Given the description of an element on the screen output the (x, y) to click on. 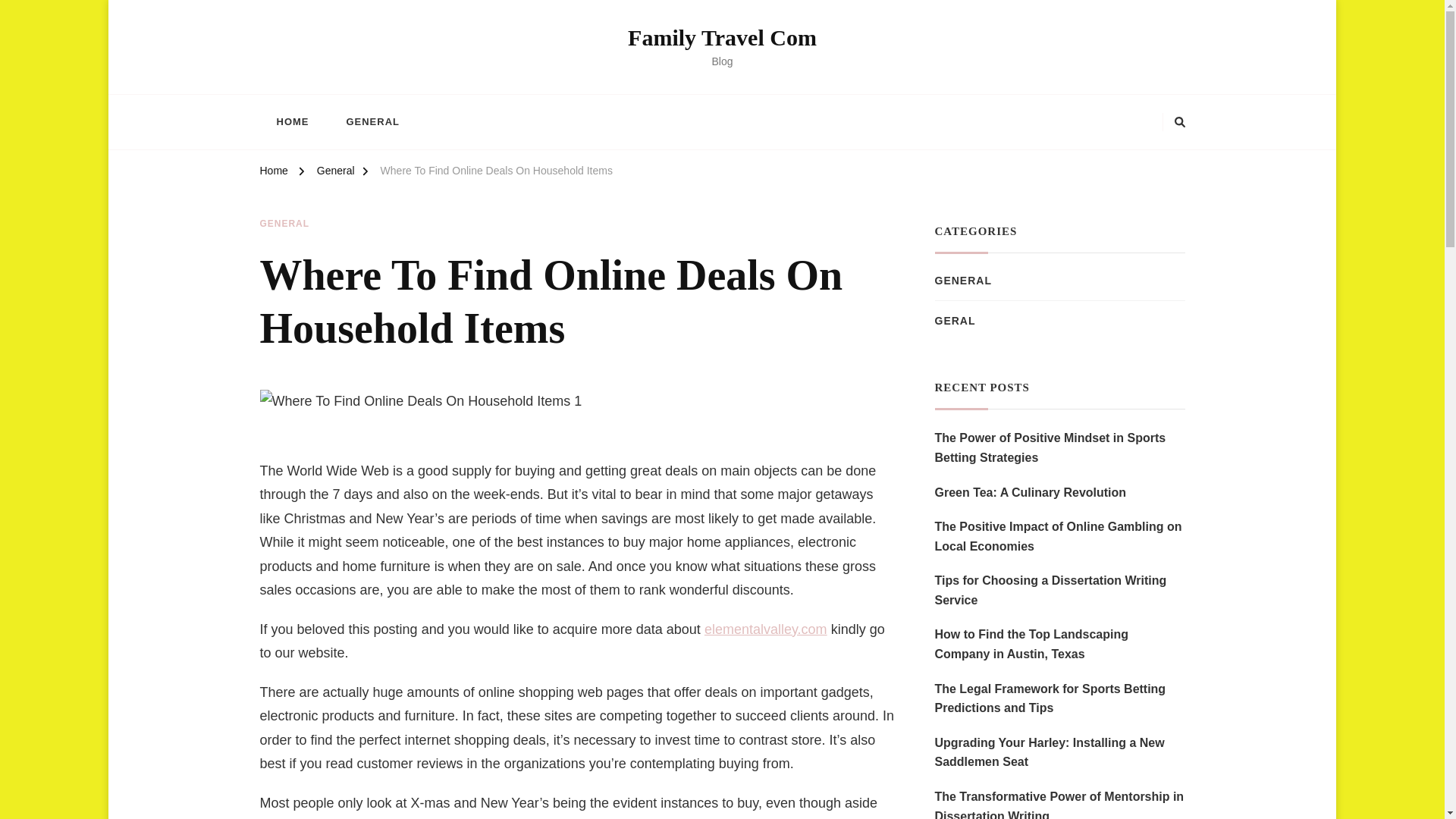
GENERAL (371, 121)
The Power of Positive Mindset in Sports Betting Strategies (1059, 447)
GENERAL (962, 280)
GENERAL (283, 223)
HOME (291, 121)
GERAL (954, 320)
Family Travel Com (721, 37)
General (336, 172)
Where To Find Online Deals On Household Items (496, 172)
Home (272, 172)
elementalvalley.com (765, 629)
